Given the description of an element on the screen output the (x, y) to click on. 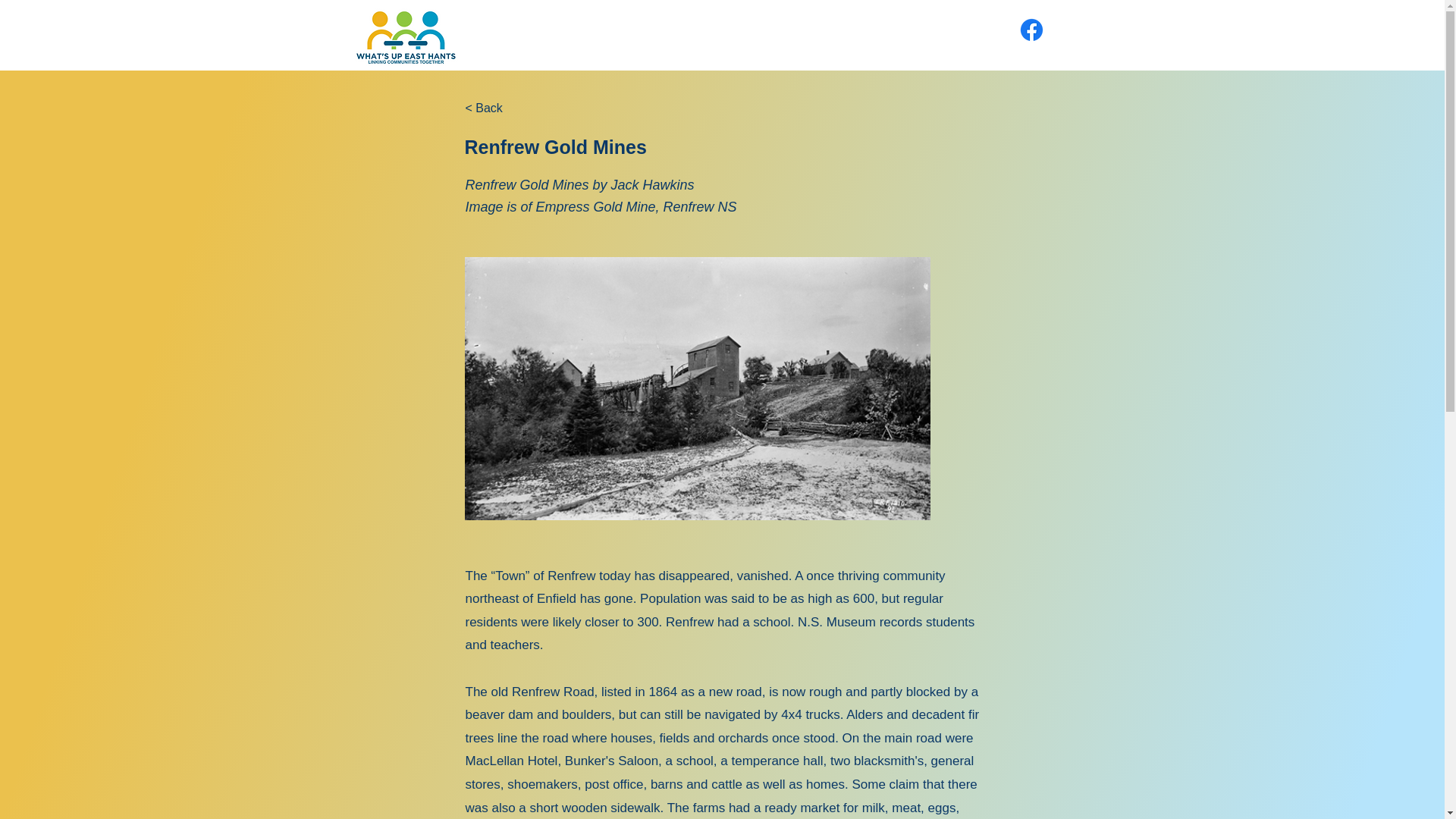
About Us (502, 33)
Empress Gold.png (697, 388)
Business highlights (809, 33)
Issue 8 (585, 33)
Community Info (682, 33)
